Given the description of an element on the screen output the (x, y) to click on. 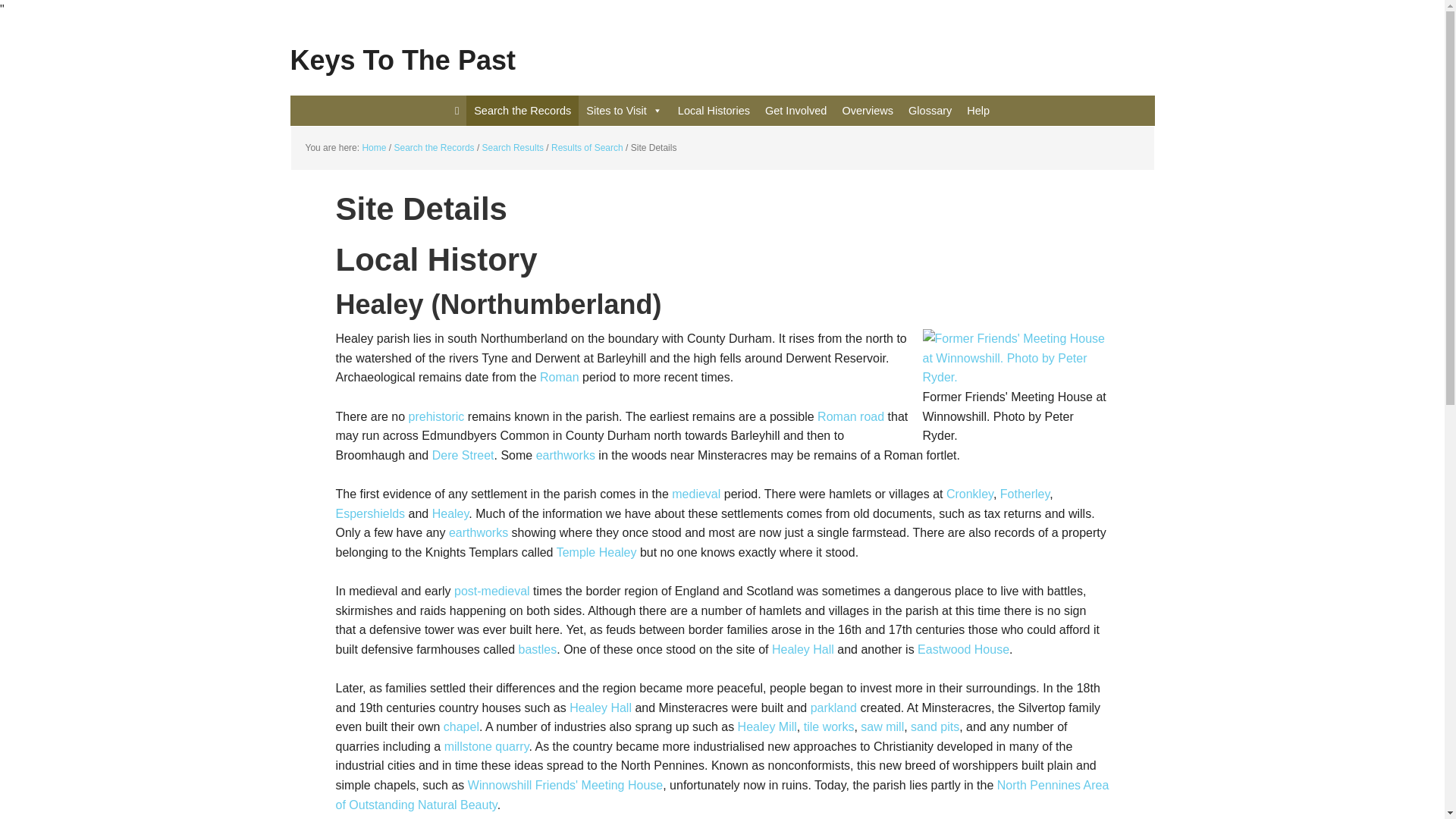
Get Involved (795, 110)
Keys To The Past (721, 49)
Help (978, 110)
earthworks (565, 454)
Roman (559, 377)
Dere Street (463, 454)
Results of Search (587, 147)
Local Histories (713, 110)
Home (373, 147)
